Given the description of an element on the screen output the (x, y) to click on. 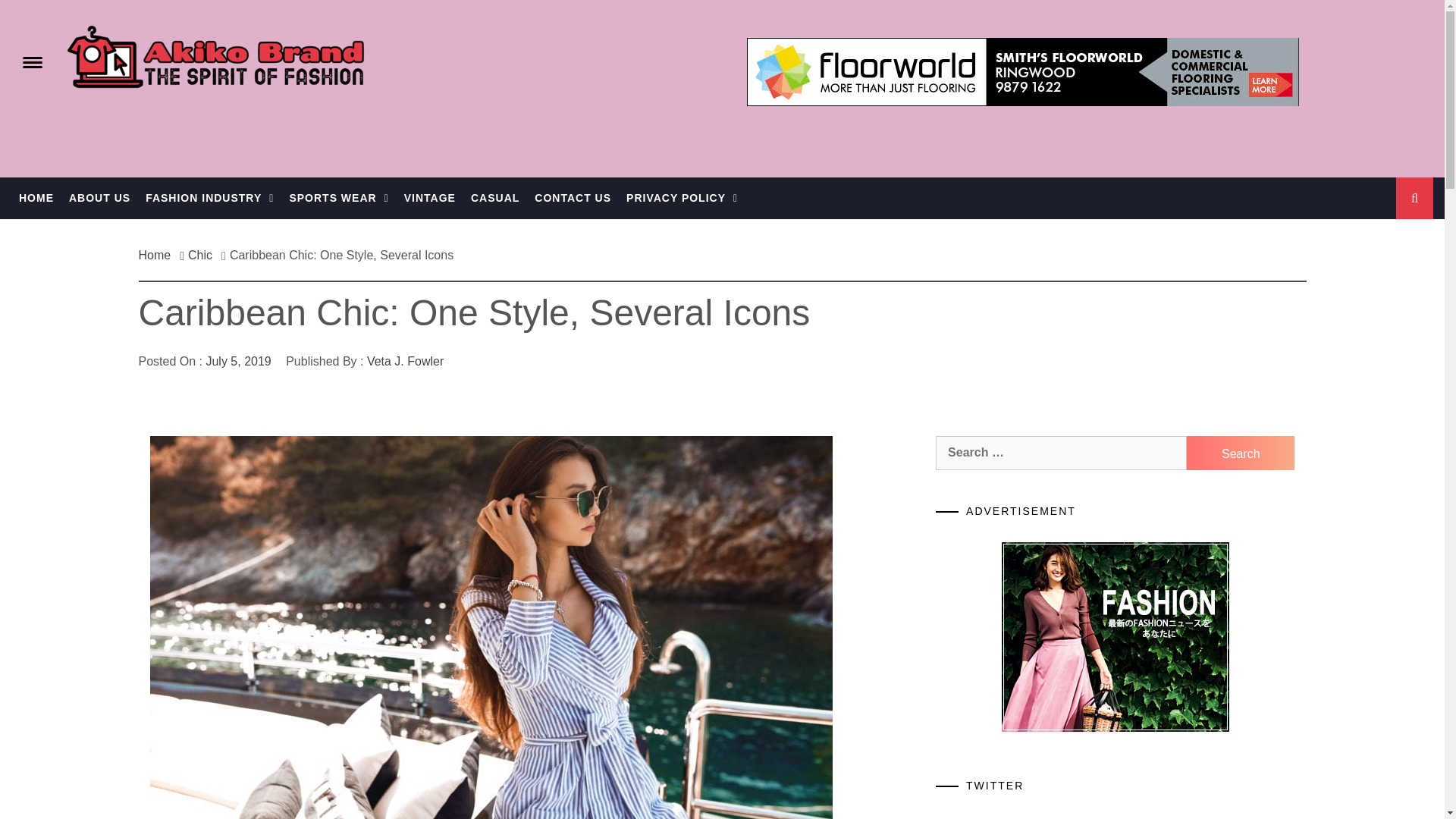
PRIVACY POLICY (681, 198)
CONTACT US (572, 198)
HOME (36, 198)
VINTAGE (429, 198)
Chic (200, 254)
Search (1240, 452)
Search (1240, 452)
Search (1240, 452)
ABOUT US (99, 198)
Veta J. Fowler (405, 360)
CASUAL (495, 198)
SPORTS WEAR (338, 198)
Toggle menu (30, 60)
July 5, 2019 (237, 360)
Home (158, 254)
